Given the description of an element on the screen output the (x, y) to click on. 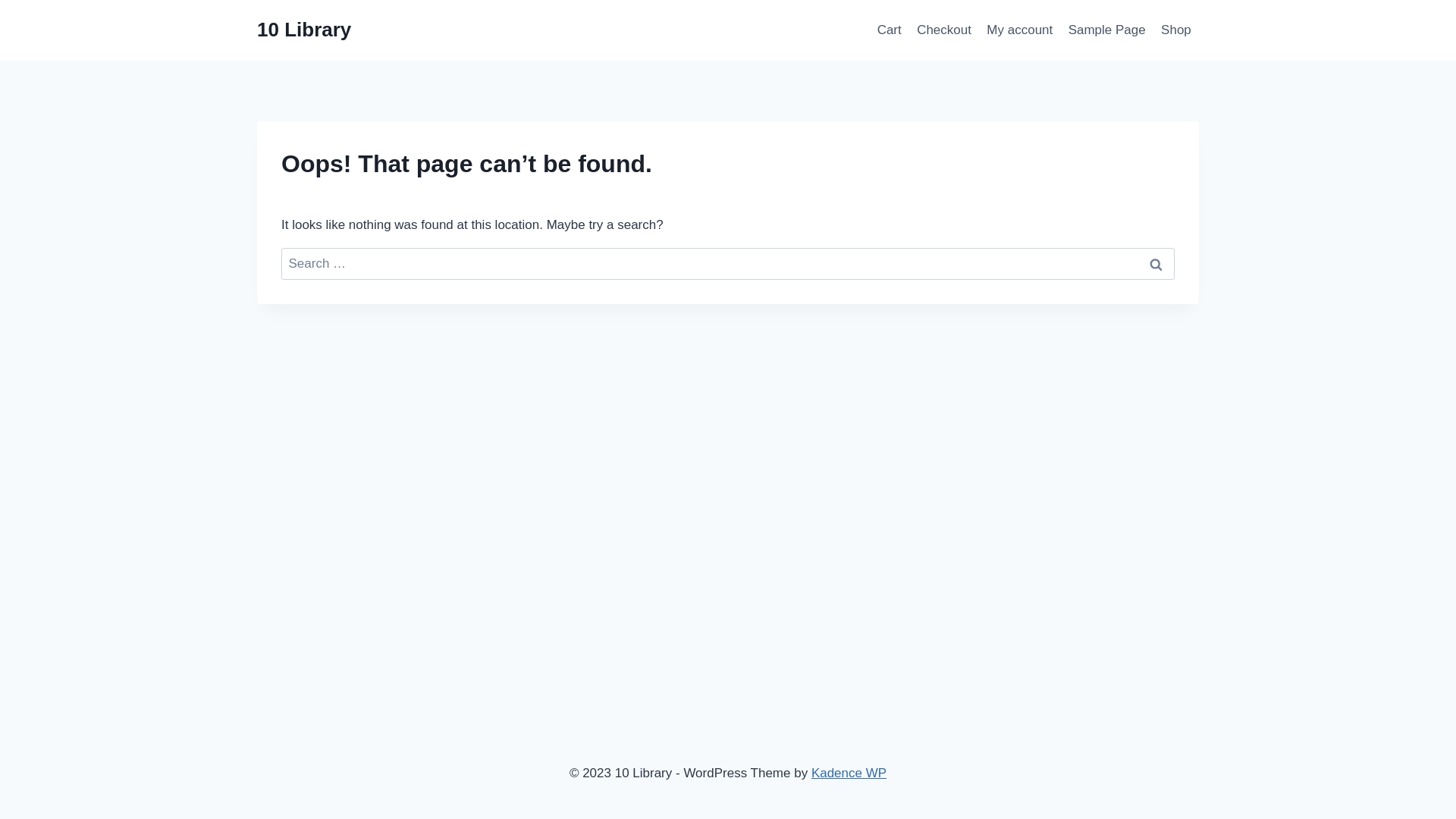
Kadence WP Element type: text (848, 772)
Search Element type: text (1155, 263)
10 Library Element type: text (304, 29)
My account Element type: text (1019, 30)
Checkout Element type: text (944, 30)
Shop Element type: text (1175, 30)
Sample Page Element type: text (1106, 30)
Cart Element type: text (889, 30)
